Given the description of an element on the screen output the (x, y) to click on. 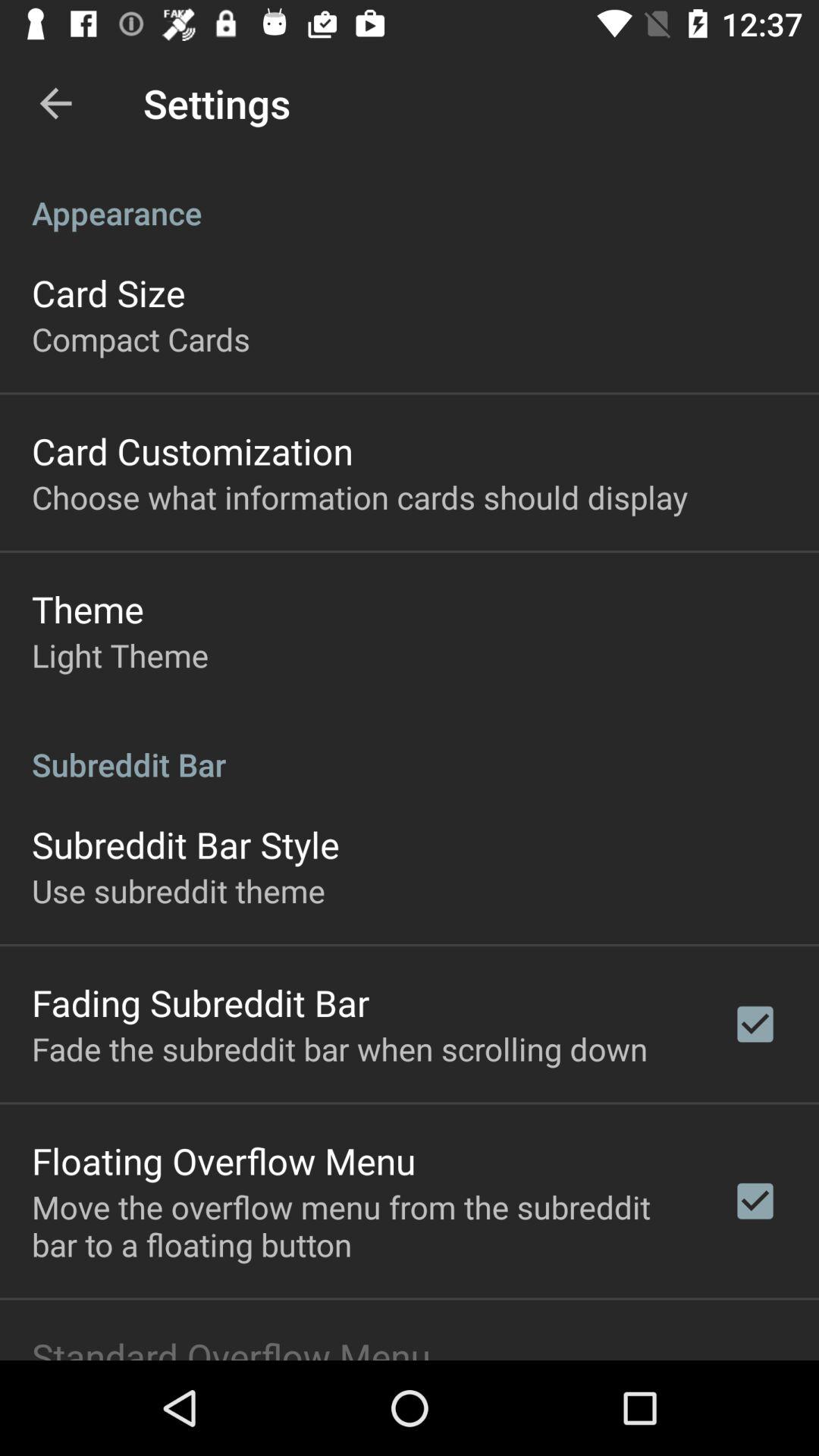
turn off app above the standard overflow menu (361, 1225)
